Given the description of an element on the screen output the (x, y) to click on. 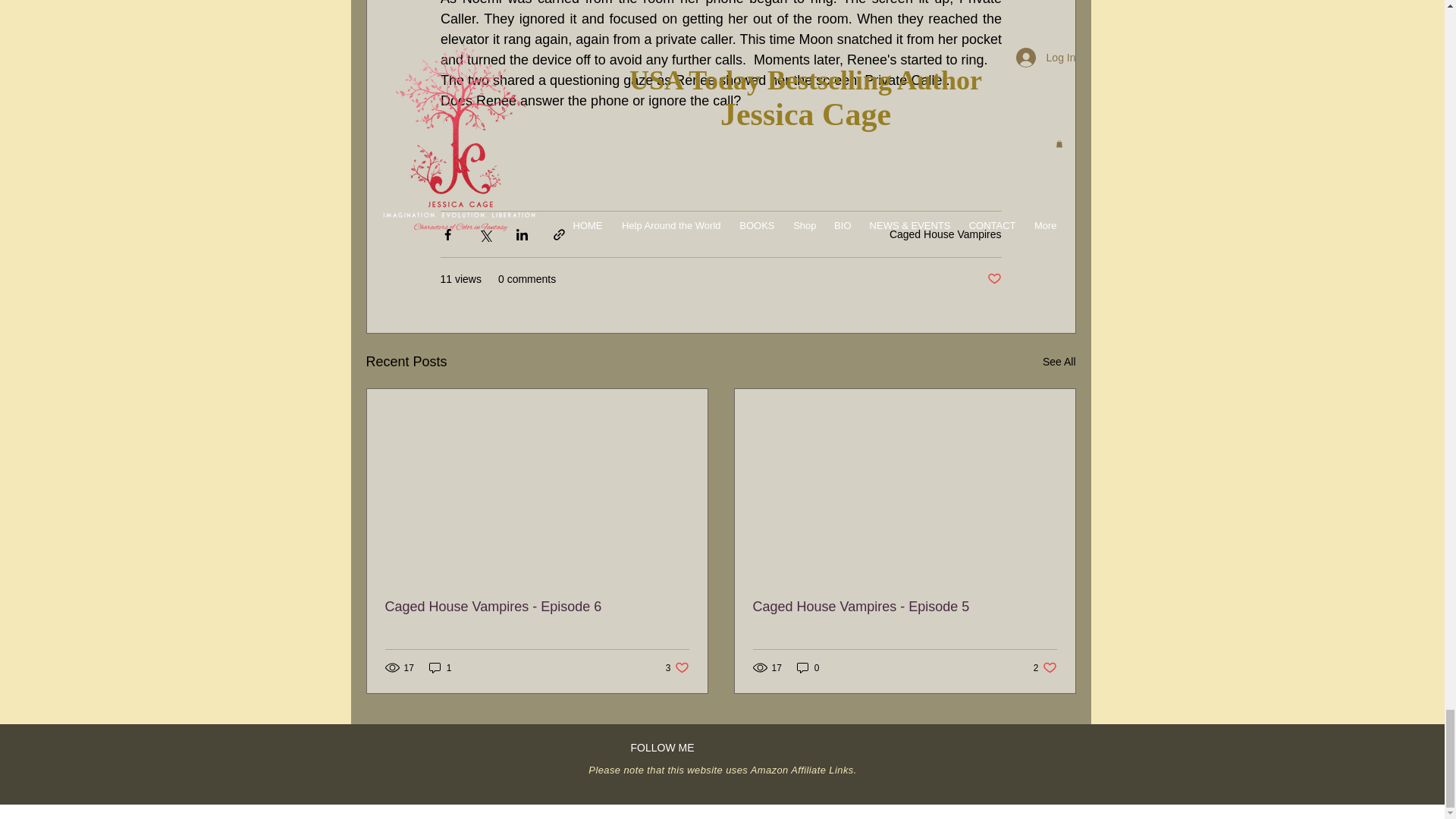
Caged House Vampires - Episode 6 (536, 606)
Caged House Vampires (945, 234)
See All (1058, 362)
Post not marked as liked (994, 279)
1 (676, 667)
